Given the description of an element on the screen output the (x, y) to click on. 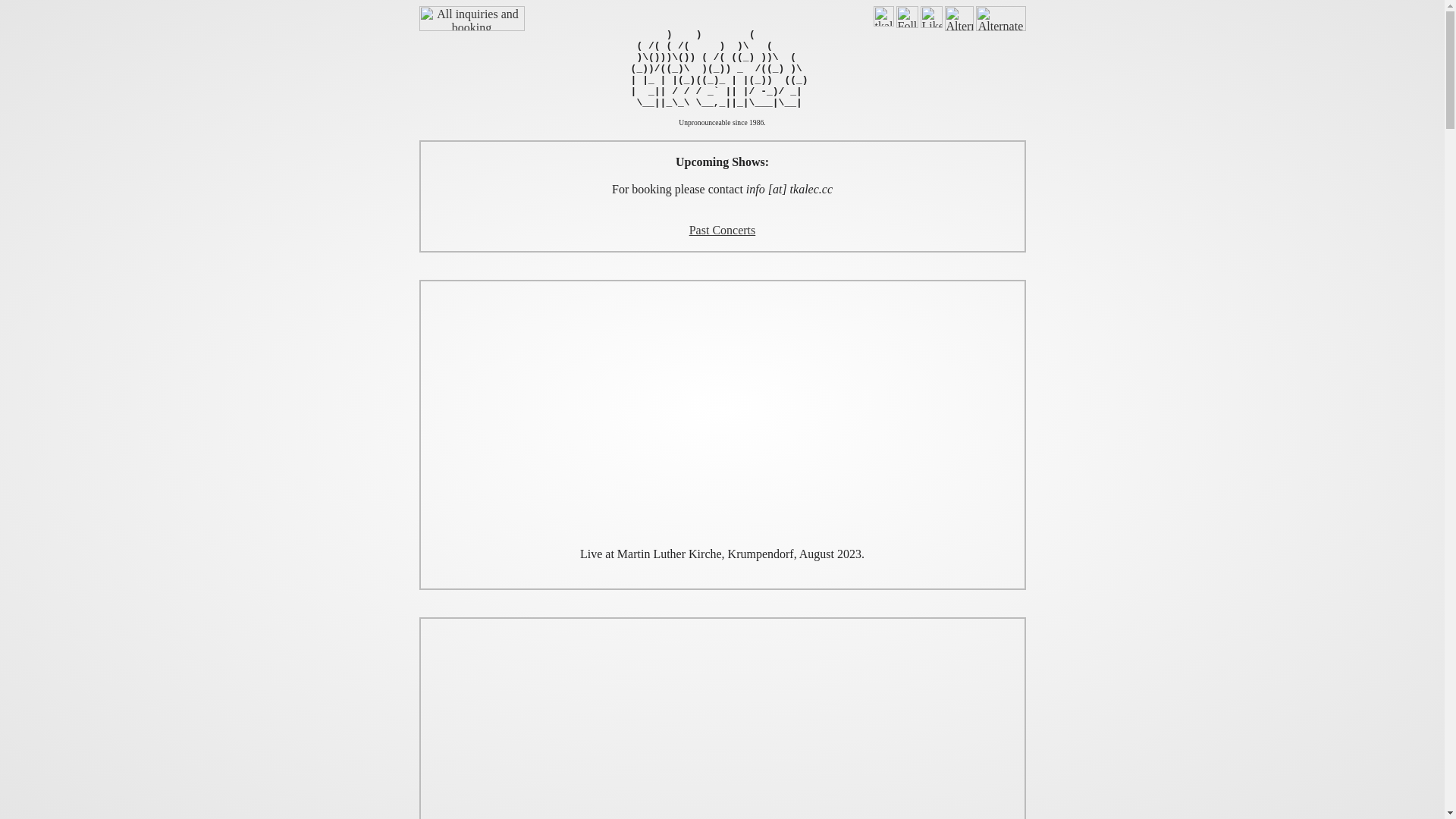
Stream on Spotify Element type: hover (883, 16)
Socialize! Element type: hover (931, 17)
All inquiries and booking Element type: hover (471, 18)
Past Concerts Element type: text (722, 229)
YouTube video player Element type: hover (721, 413)
Alternate Audio Webstore Element type: hover (1000, 18)
Alternate Audio - Quality wayward music Element type: hover (958, 18)
Connect to the random tweet madness! Element type: hover (907, 17)
